Given the description of an element on the screen output the (x, y) to click on. 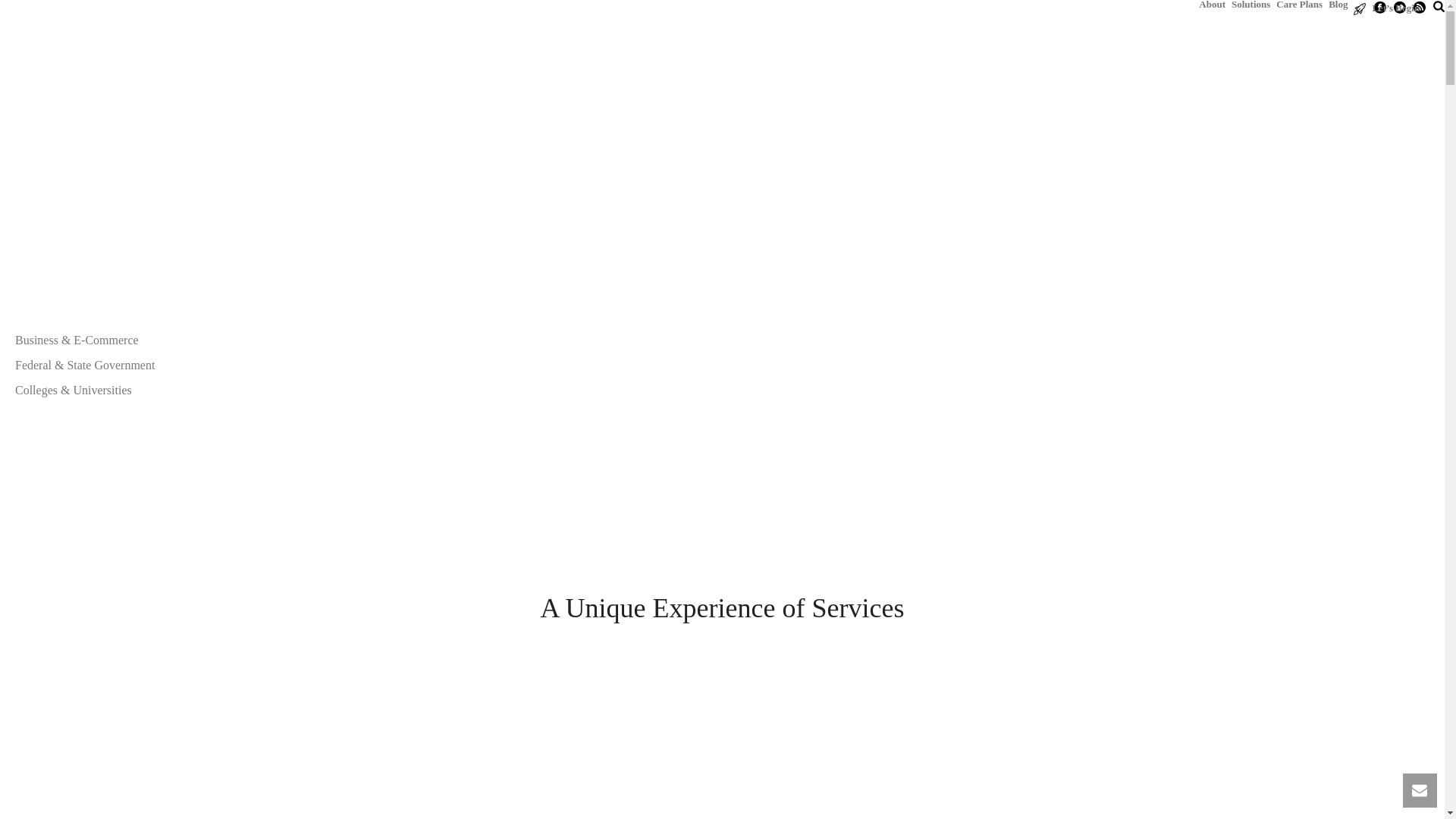
Solutions Element type: text (1250, 3)
Federal & State Government Element type: text (84, 365)
Blog Element type: text (1338, 3)
About Element type: text (1211, 3)
Care Plans Element type: text (1299, 3)
Business & E-Commerce Element type: text (76, 340)
Colleges & Universities Element type: text (73, 390)
